Given the description of an element on the screen output the (x, y) to click on. 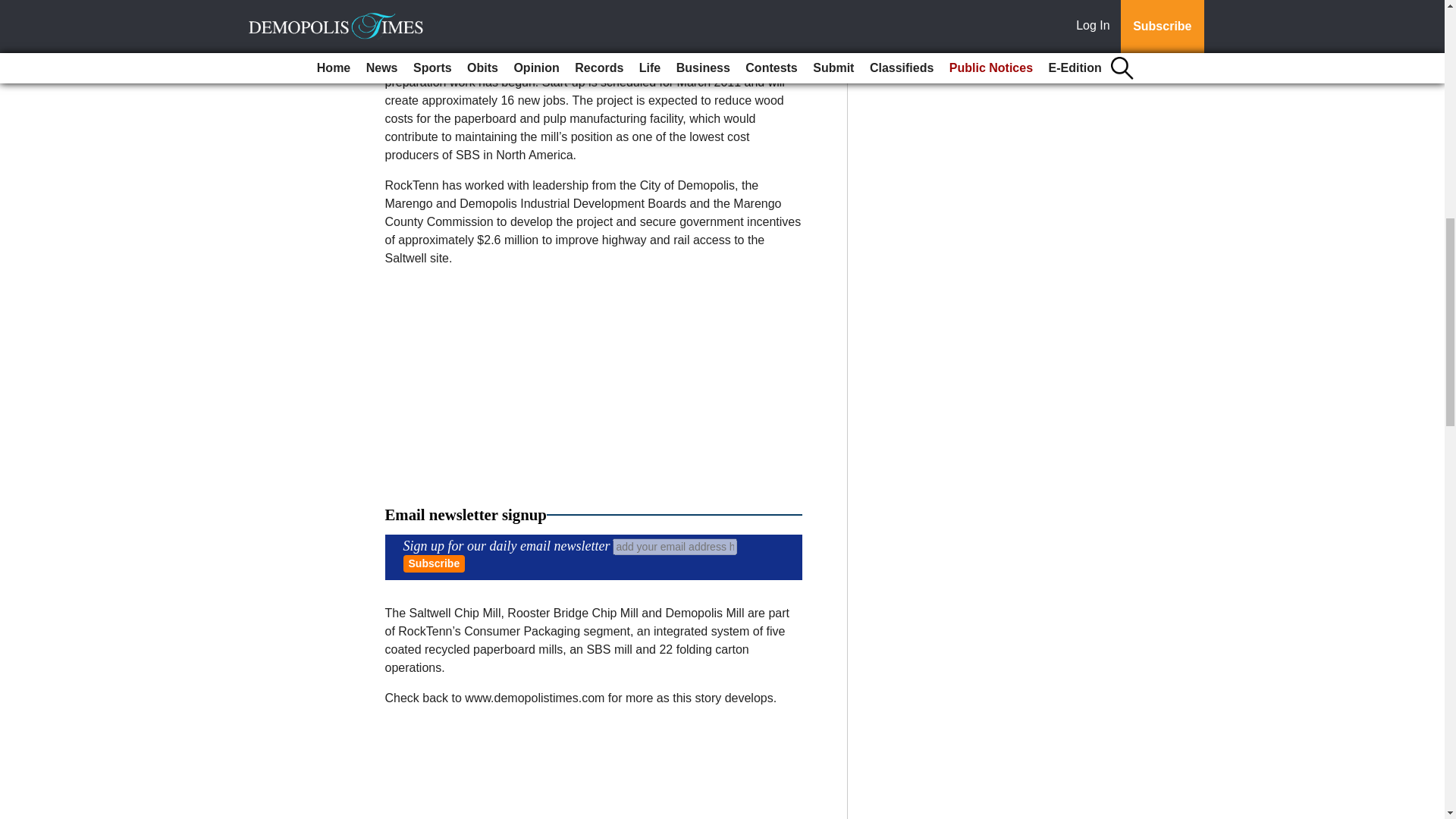
Subscribe (434, 563)
Subscribe (434, 563)
